Given the description of an element on the screen output the (x, y) to click on. 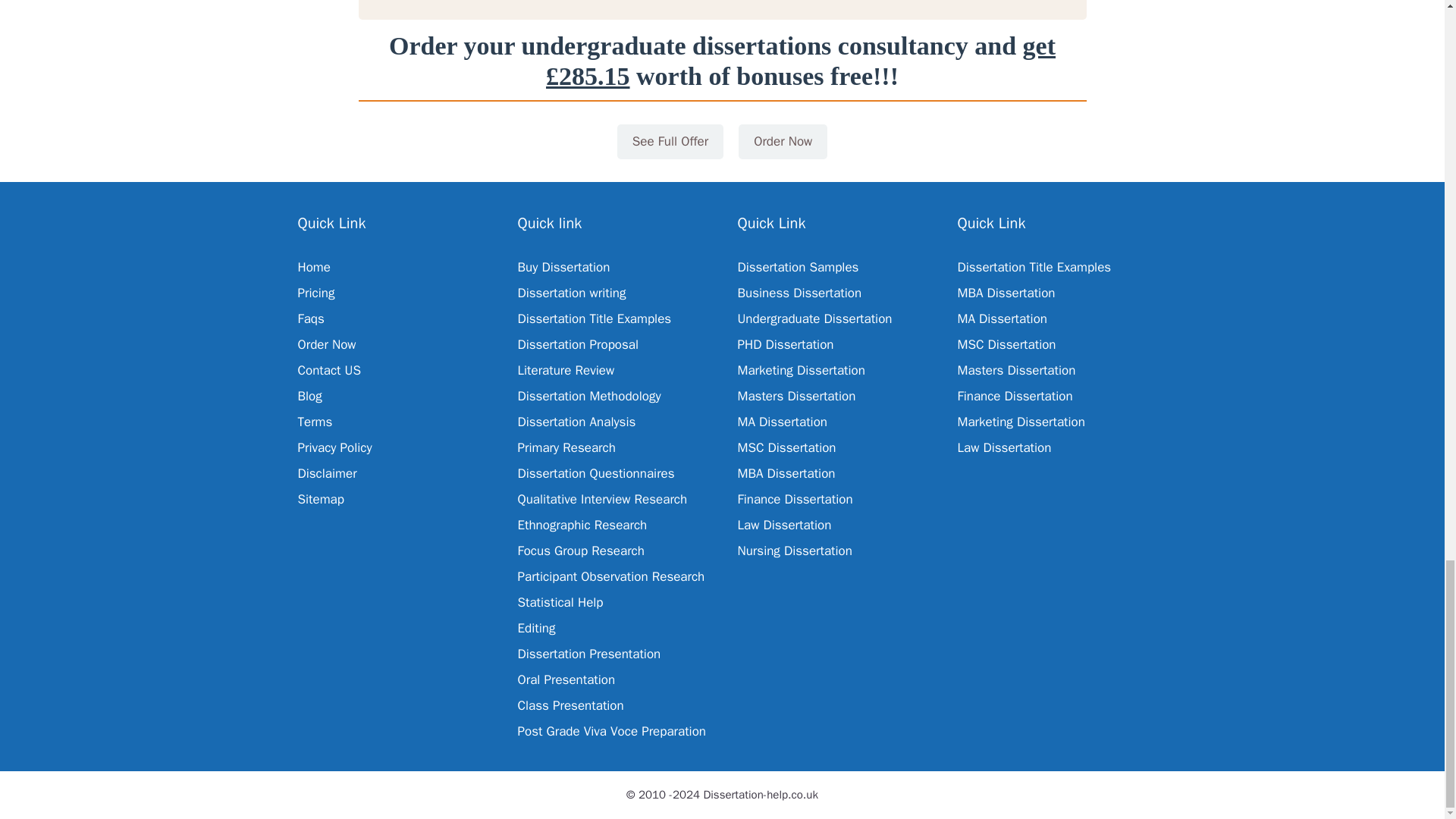
Faqs (310, 318)
Pricing (315, 293)
Sitemap (320, 498)
Disclaimer (326, 473)
Blog (309, 396)
Order Now (782, 141)
Privacy Policy (334, 447)
Contact US (329, 370)
Buy Dissertation (563, 267)
Home (313, 267)
Terms (314, 421)
See Full Offer (670, 141)
Order Now (326, 344)
